Given the description of an element on the screen output the (x, y) to click on. 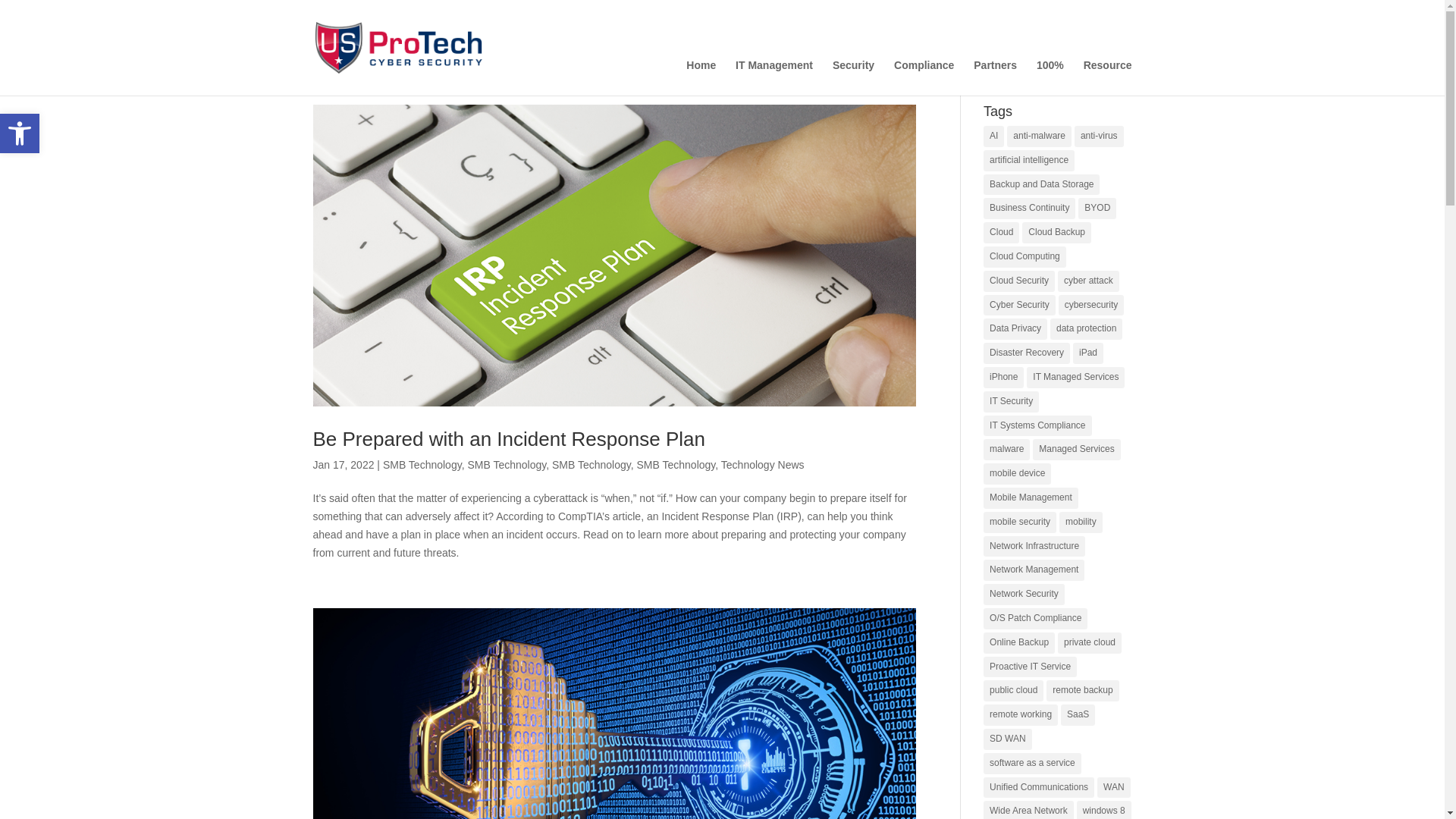
Accessibility Tools (19, 133)
IT Management (19, 133)
Compliance (773, 77)
Security (923, 77)
Accessibility Tools (853, 77)
Partners (19, 133)
